Given the description of an element on the screen output the (x, y) to click on. 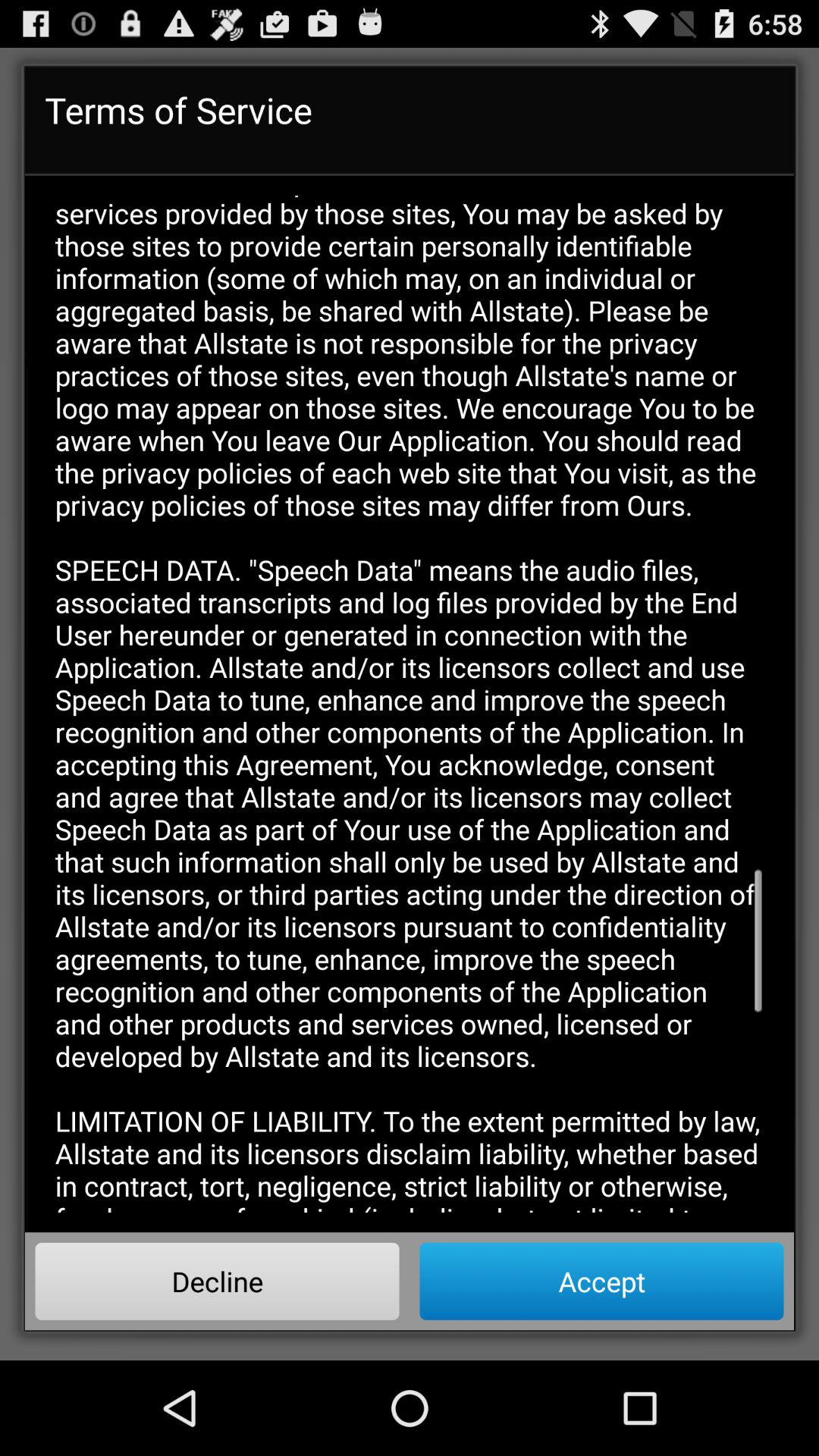
open icon at the bottom right corner (601, 1281)
